Given the description of an element on the screen output the (x, y) to click on. 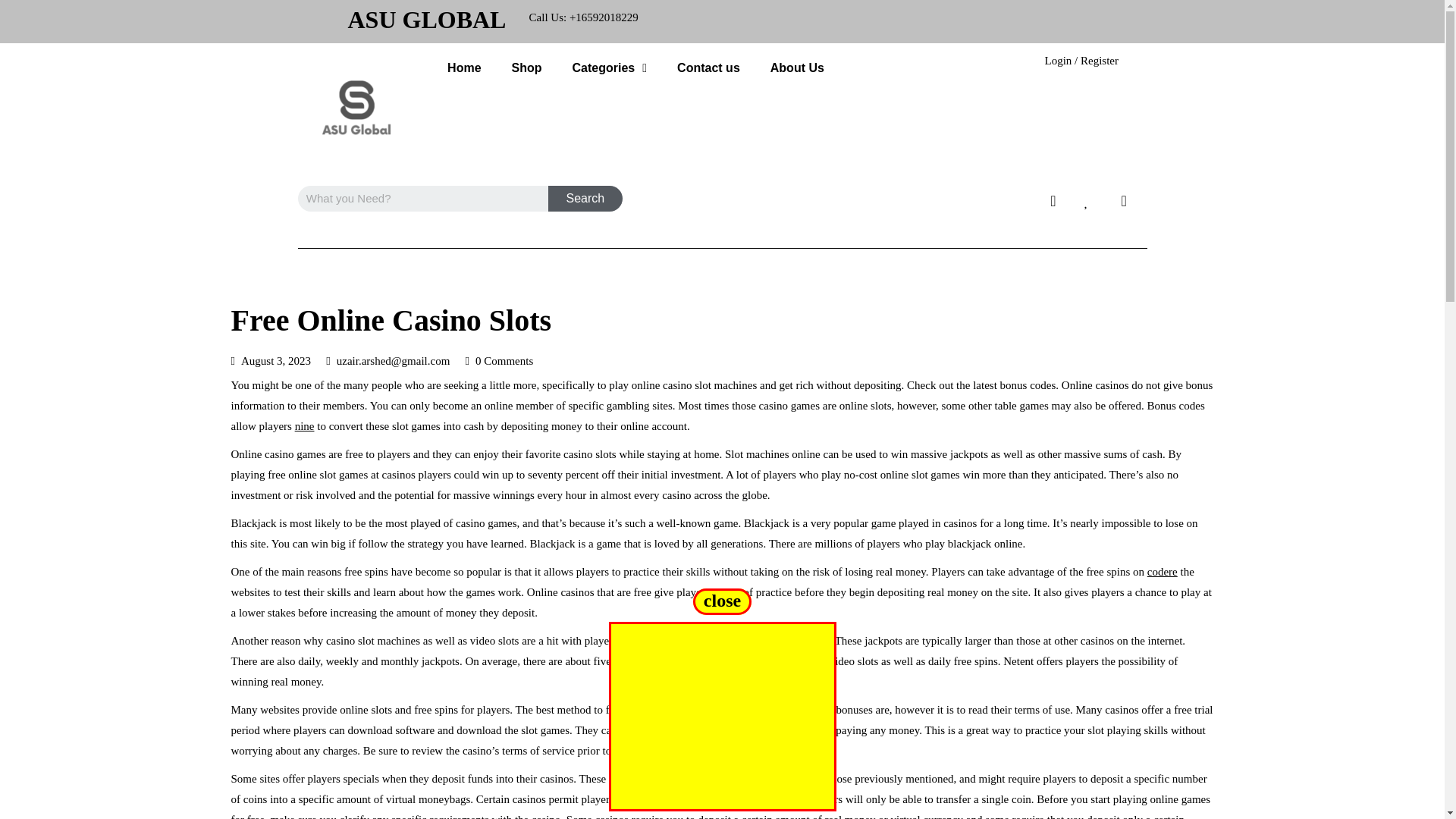
Shop (526, 67)
Search (585, 198)
Contact us (708, 67)
Categories (609, 67)
Search (422, 198)
nine (304, 426)
Home (464, 67)
About Us (797, 67)
codere (1162, 571)
August 3, 2023 (276, 360)
Search (585, 198)
